Given the description of an element on the screen output the (x, y) to click on. 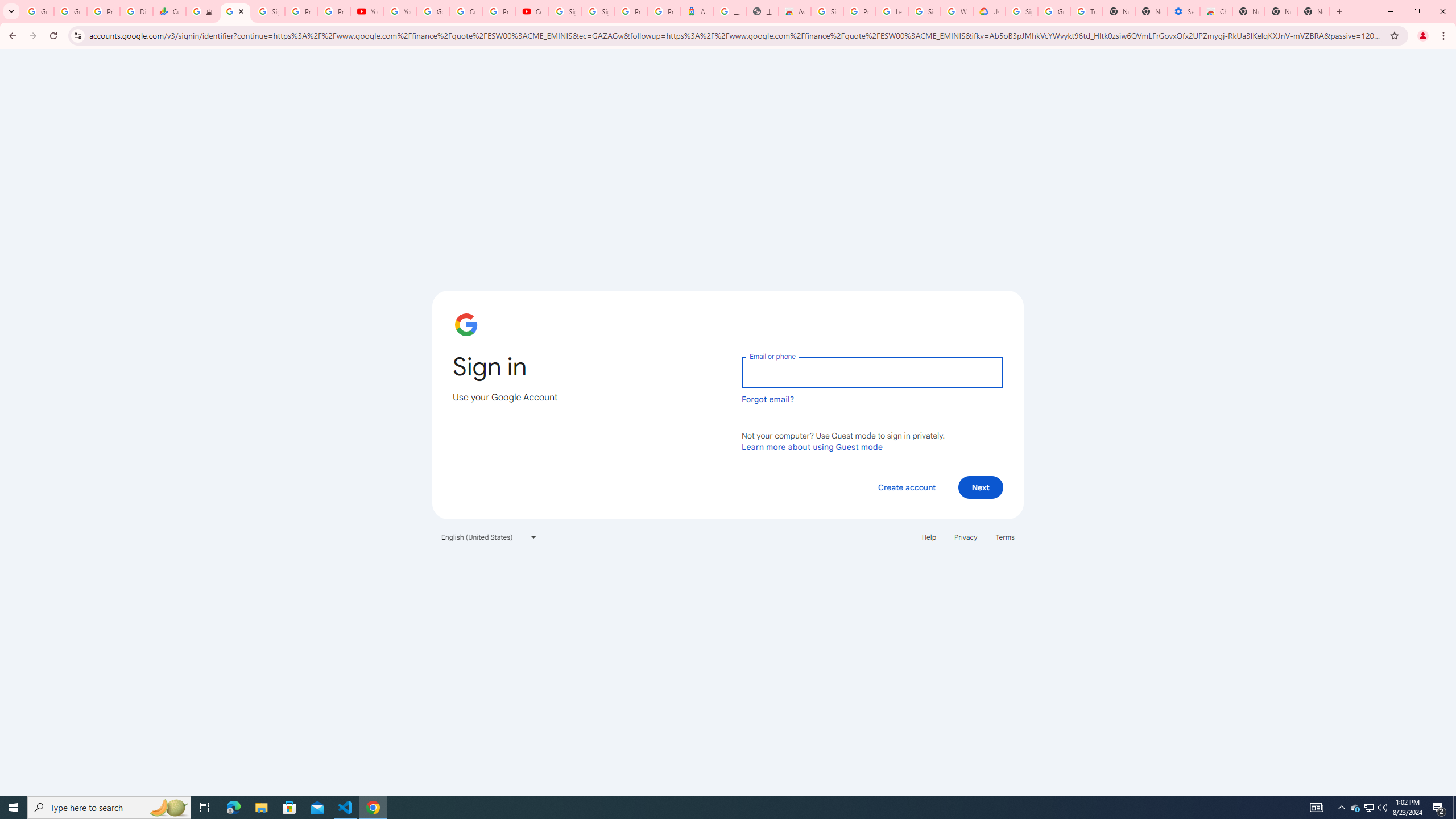
Chrome Web Store - Accessibility extensions (1216, 11)
Sign in - Google Accounts (564, 11)
Sign in - Google Accounts (924, 11)
Sign in - Google Accounts (598, 11)
Turn cookies on or off - Computer - Google Account Help (1086, 11)
Google Workspace Admin Community (37, 11)
